Given the description of an element on the screen output the (x, y) to click on. 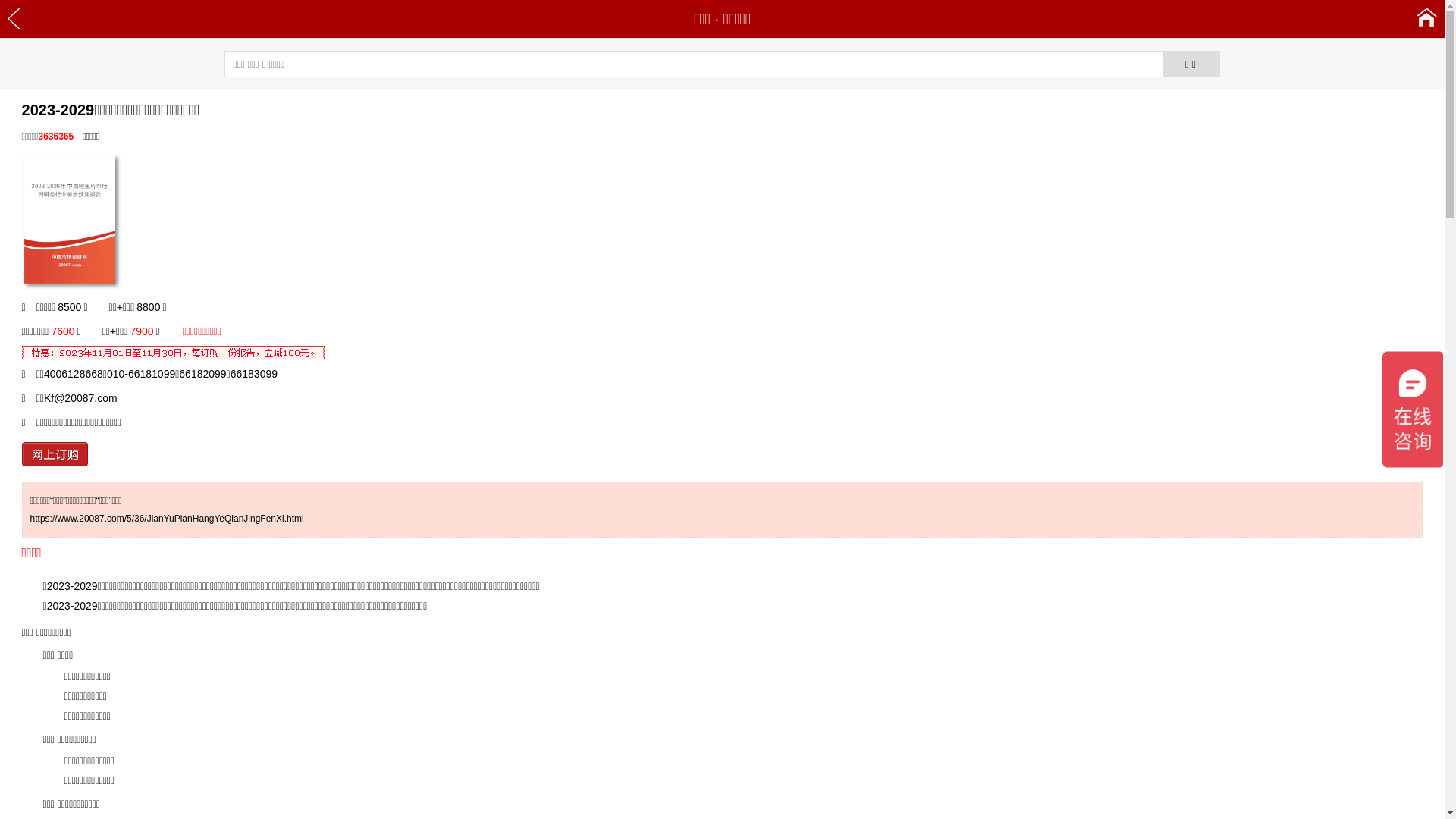
Kf@20087.com Element type: text (80, 398)
